Given the description of an element on the screen output the (x, y) to click on. 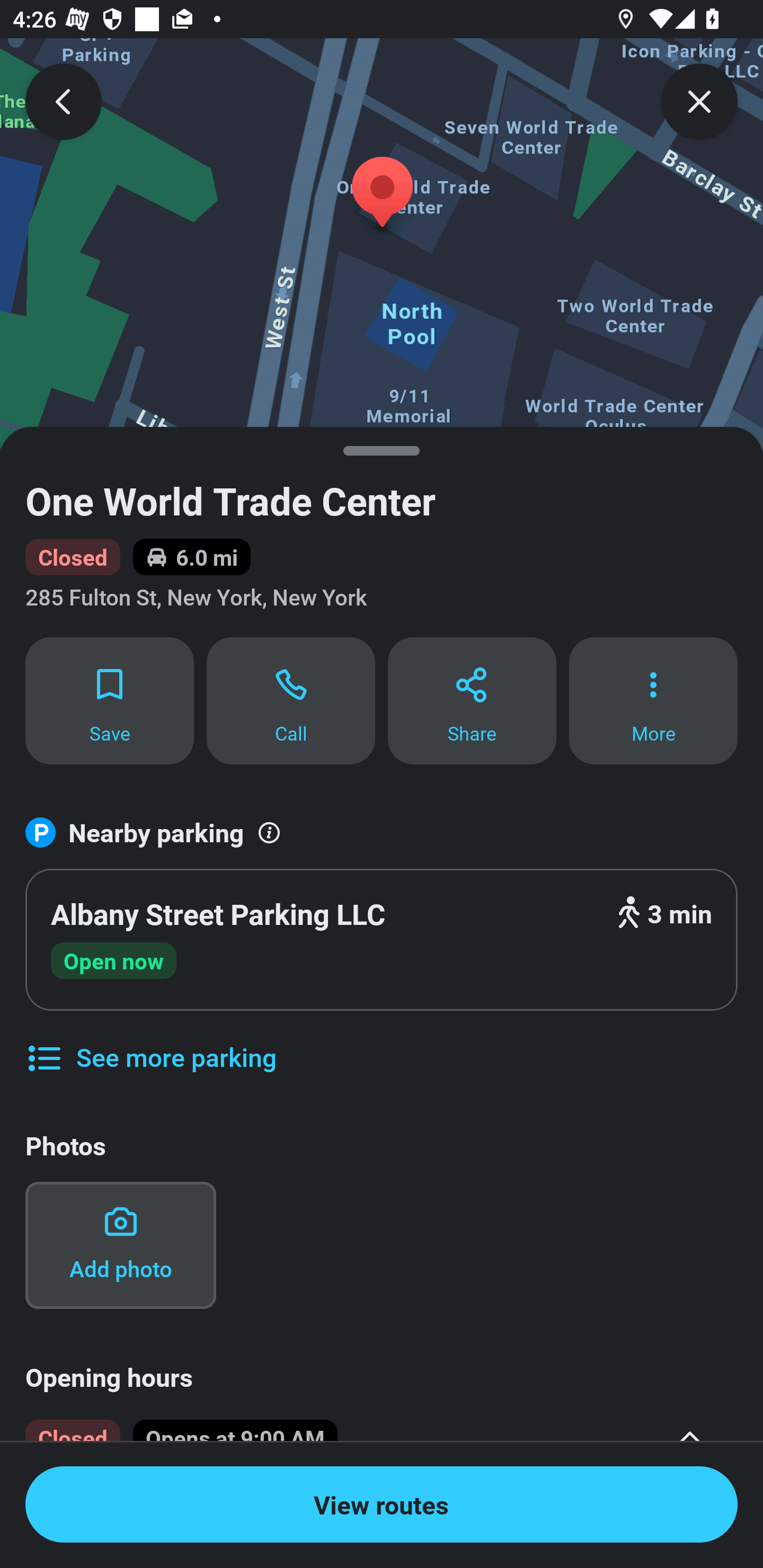
Save (109, 700)
Call (290, 700)
Share (471, 700)
More (653, 700)
Albany Street Parking LLC 3 min Open now (381, 939)
See more parking (150, 1043)
Add photo (120, 1245)
View routes (381, 1504)
